Given the description of an element on the screen output the (x, y) to click on. 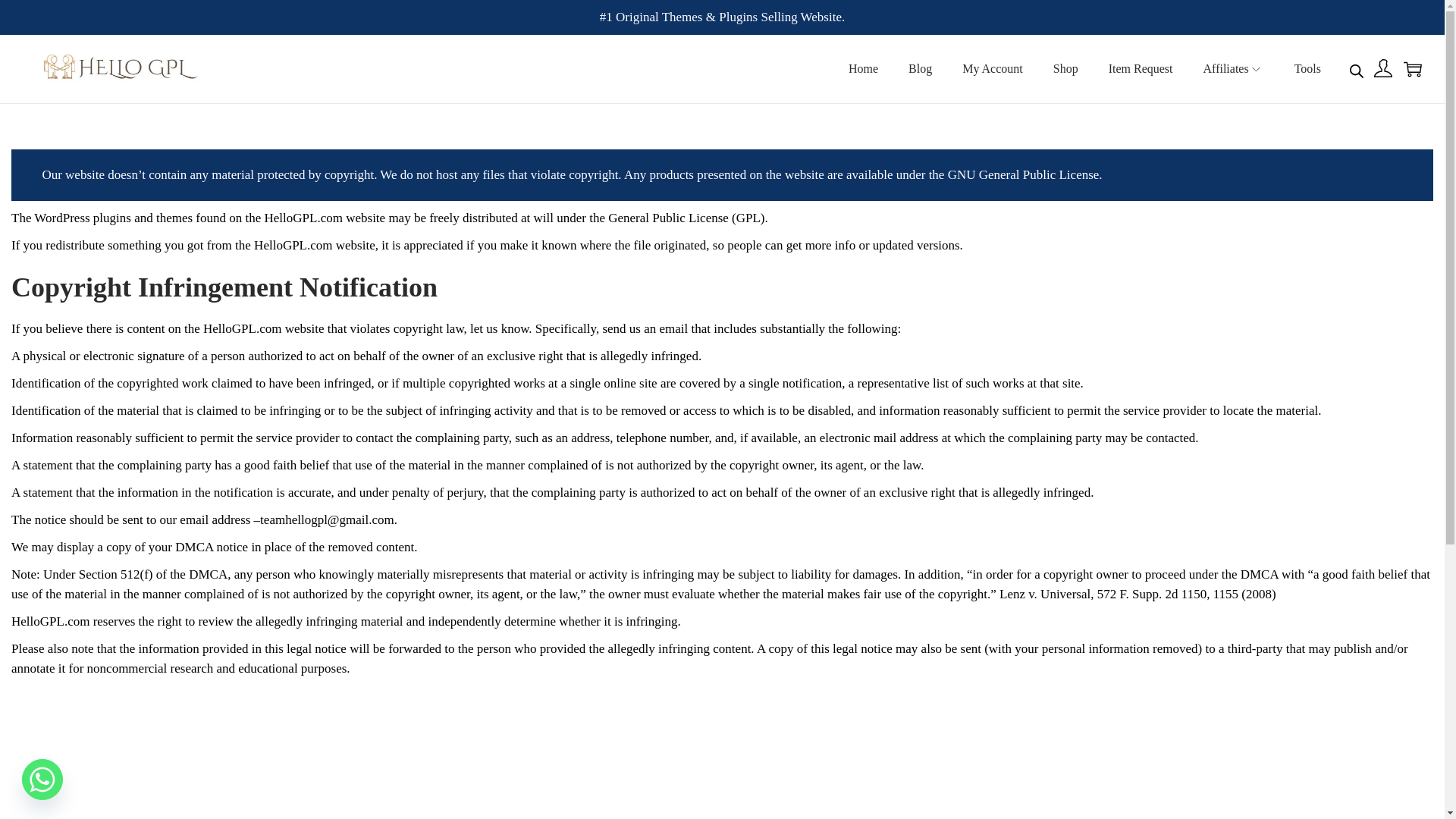
Affiliates (1233, 69)
Item Request (1140, 69)
Tools (1307, 69)
Shop (1065, 69)
My Account (992, 69)
Home (862, 69)
Blog (919, 69)
